Given the description of an element on the screen output the (x, y) to click on. 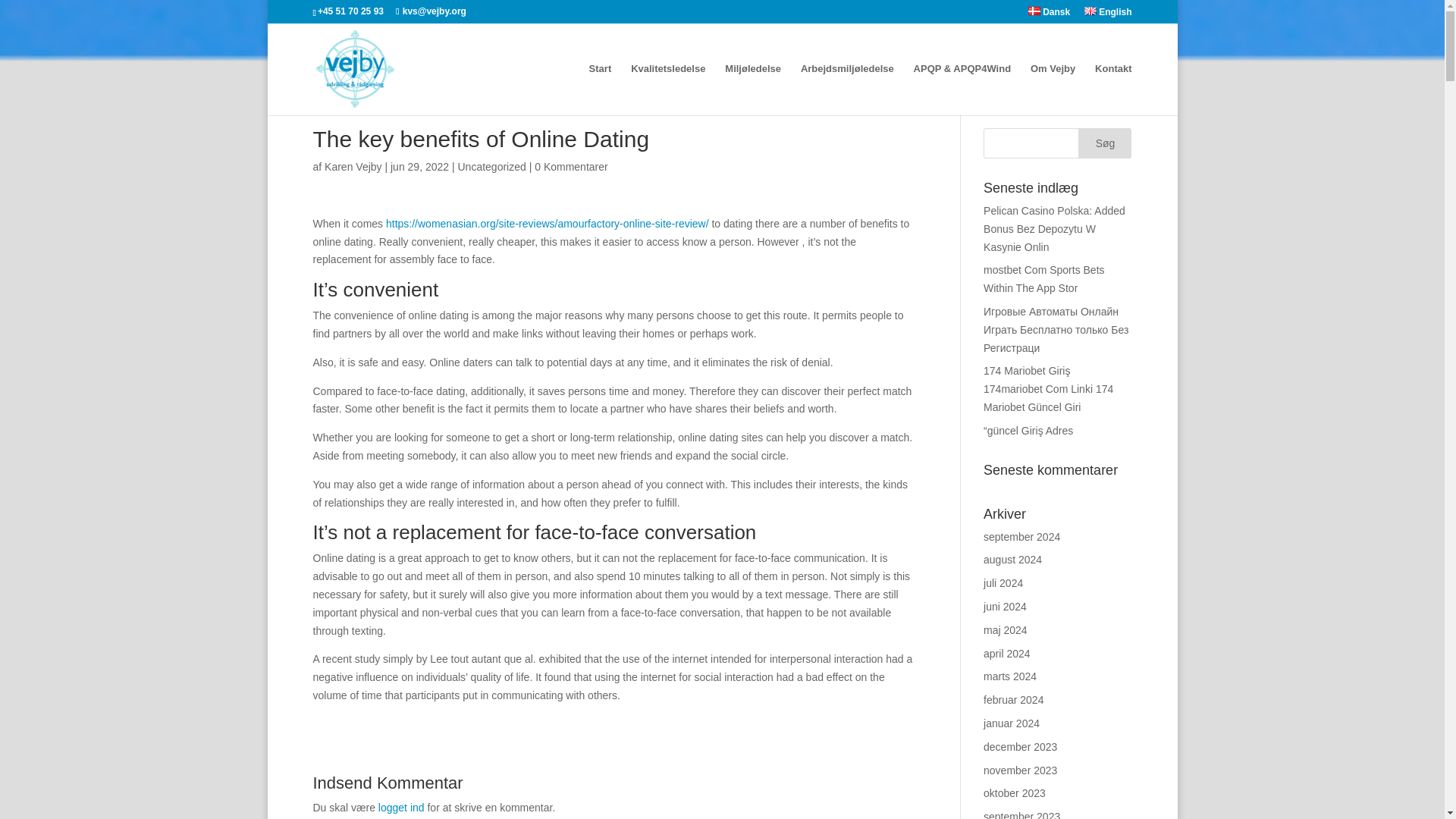
marts 2024 (1010, 676)
Karen Vejby (352, 166)
Dansk (1048, 14)
0 Kommentarer (570, 166)
maj 2024 (1005, 630)
logget ind (401, 807)
februar 2024 (1013, 699)
september 2024 (1021, 536)
mostbet Com Sports Bets Within The App Stor (1044, 278)
